Given the description of an element on the screen output the (x, y) to click on. 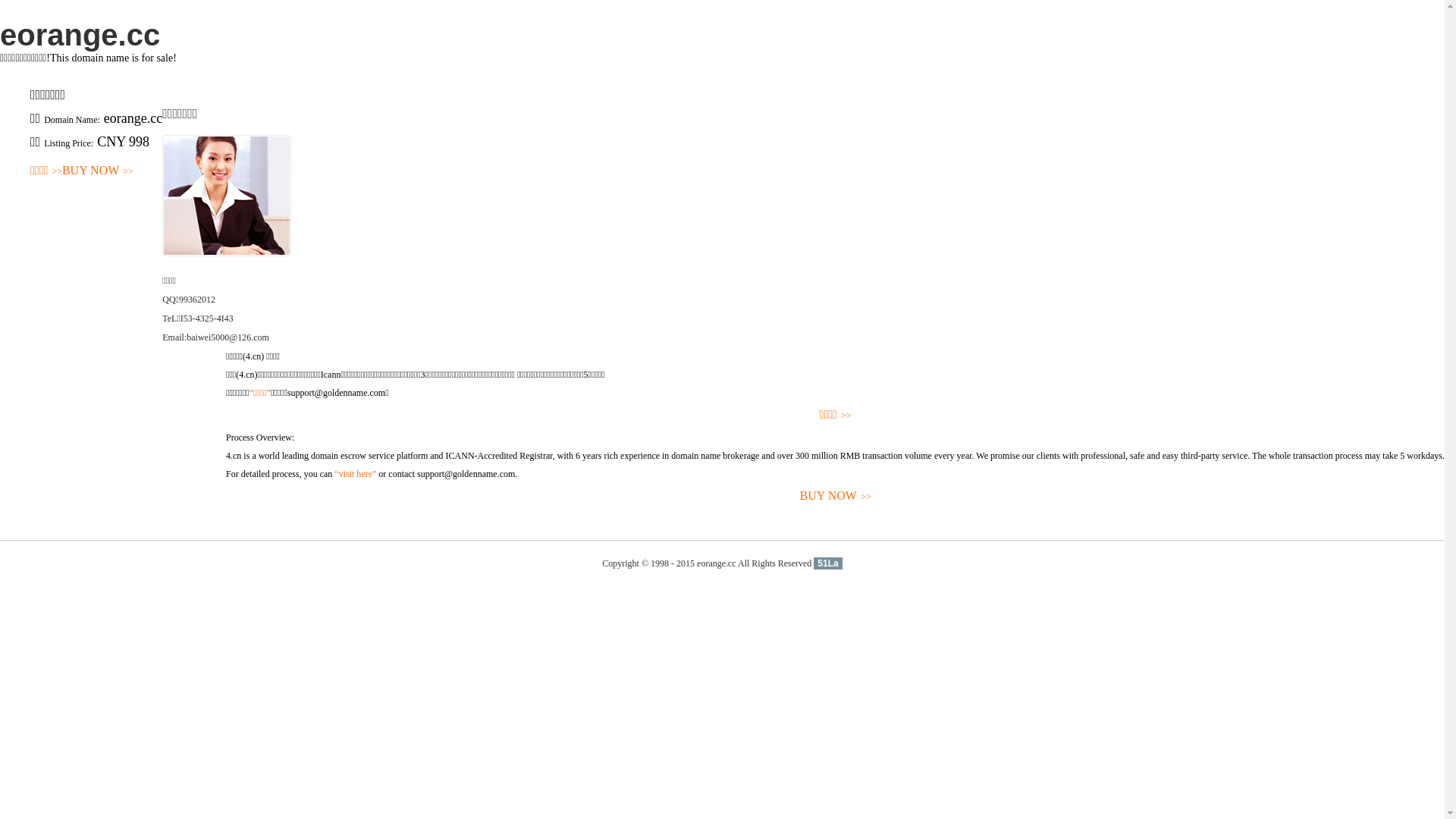
BUY NOW>> Element type: text (97, 170)
51La Element type: text (827, 563)
BUY NOW>> Element type: text (834, 496)
